Given the description of an element on the screen output the (x, y) to click on. 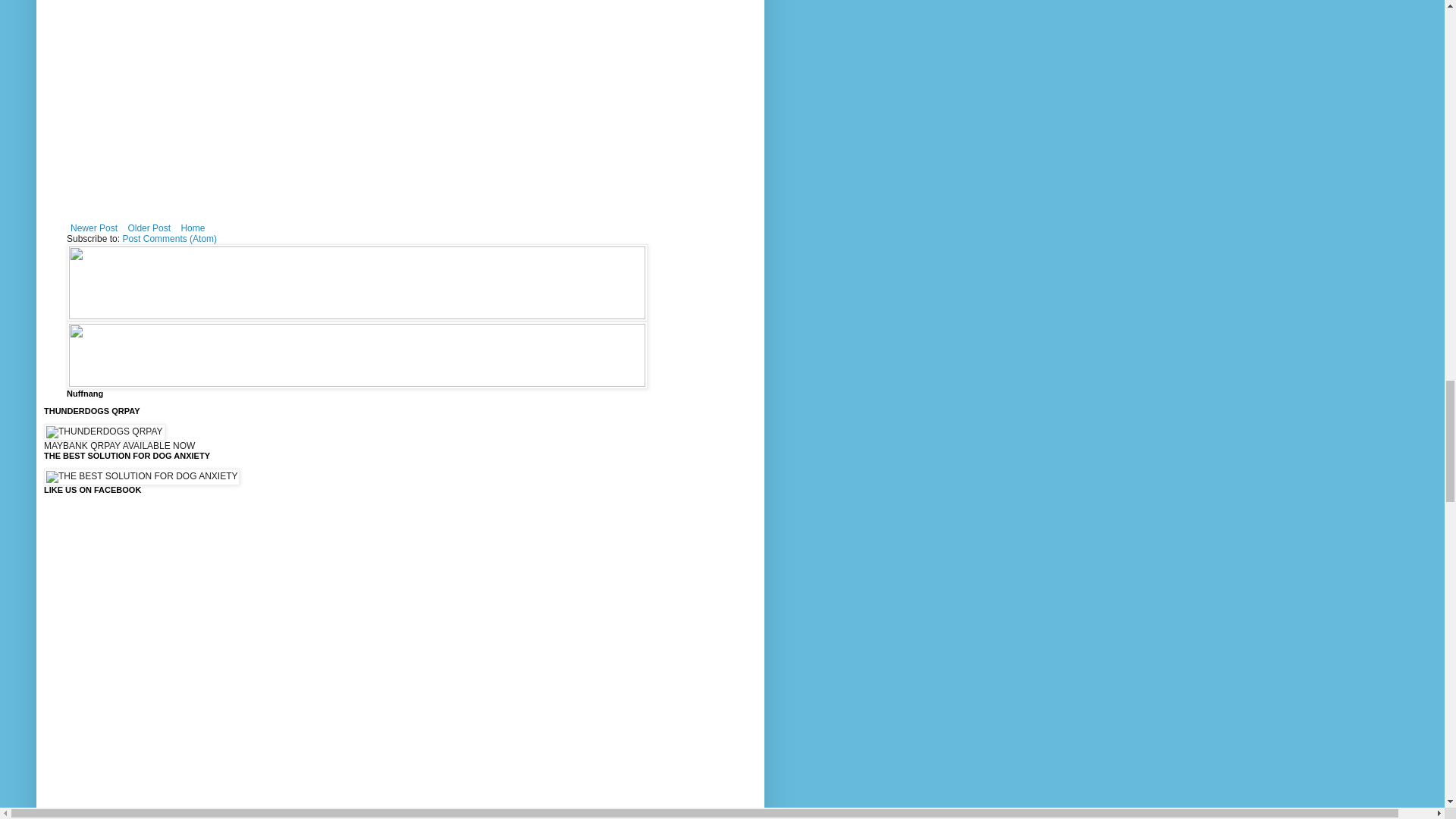
Older Post (148, 228)
Newer Post (93, 228)
Newer Post (93, 228)
Home (192, 228)
Older Post (148, 228)
